Given the description of an element on the screen output the (x, y) to click on. 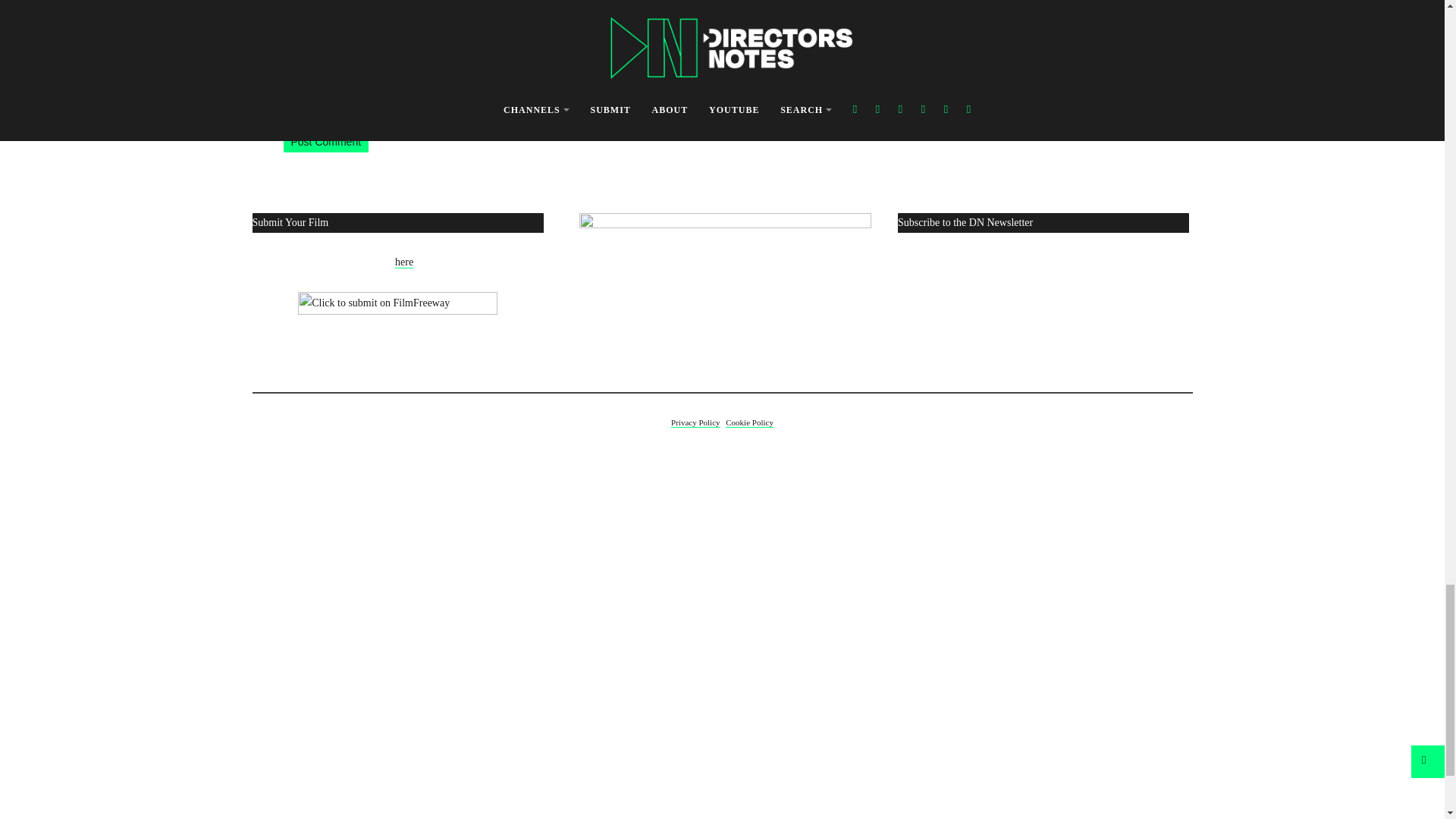
Click to submit on FilmFreeway (397, 310)
Post Comment (326, 141)
yes (704, 81)
Directors Notes on YouTube (724, 294)
Click to submit on FilmFreeway (397, 310)
